Given the description of an element on the screen output the (x, y) to click on. 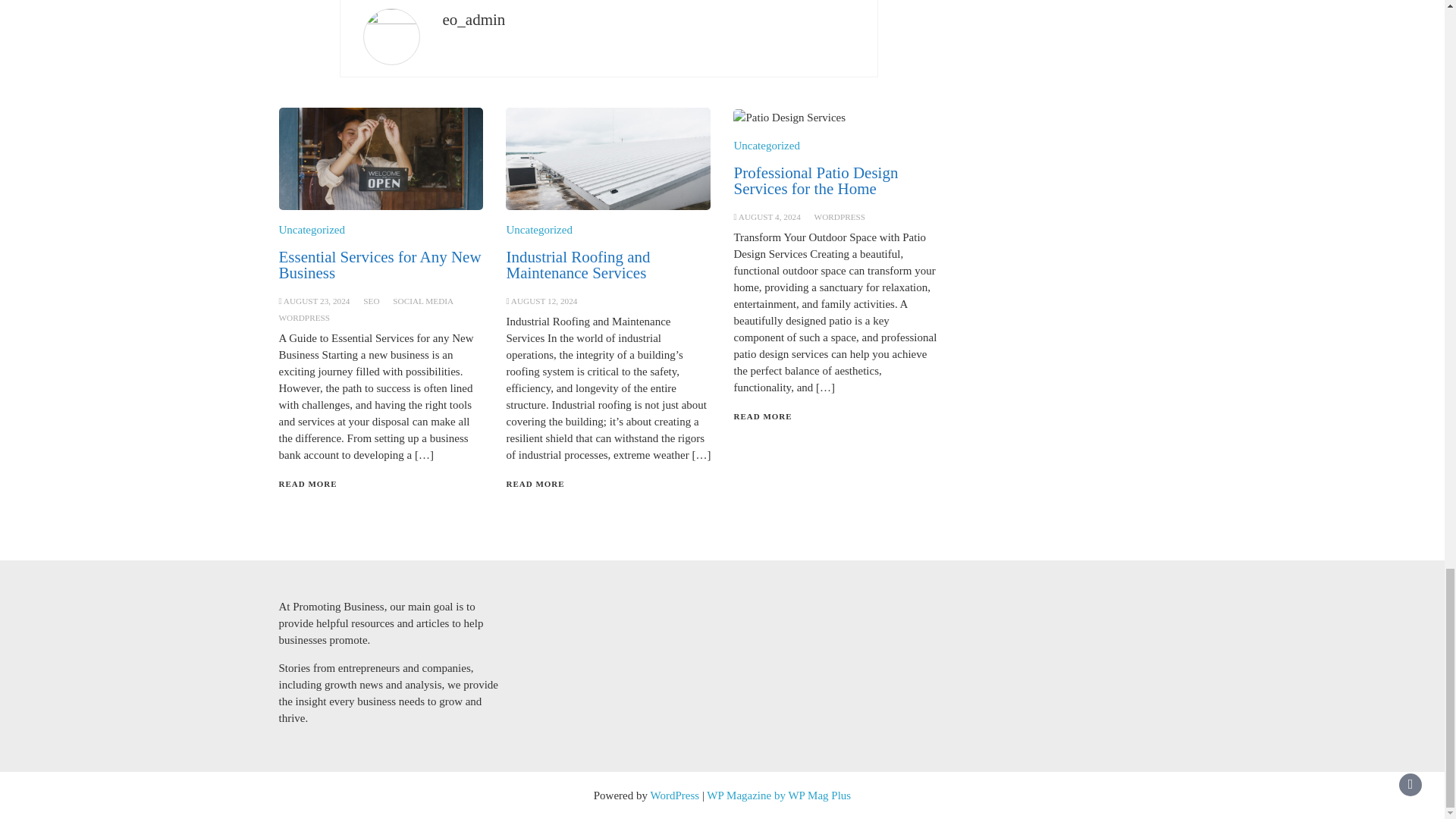
AUGUST 12, 2024 (544, 300)
Uncategorized (312, 229)
Essential Services for Any New Business (380, 264)
Uncategorized (538, 229)
WP Magazine by WP Mag Plus (778, 795)
Professional Patio Design Services for the Home (815, 180)
AUGUST 4, 2024 (769, 216)
SEO (370, 300)
Uncategorized (766, 145)
READ MORE (762, 415)
